Given the description of an element on the screen output the (x, y) to click on. 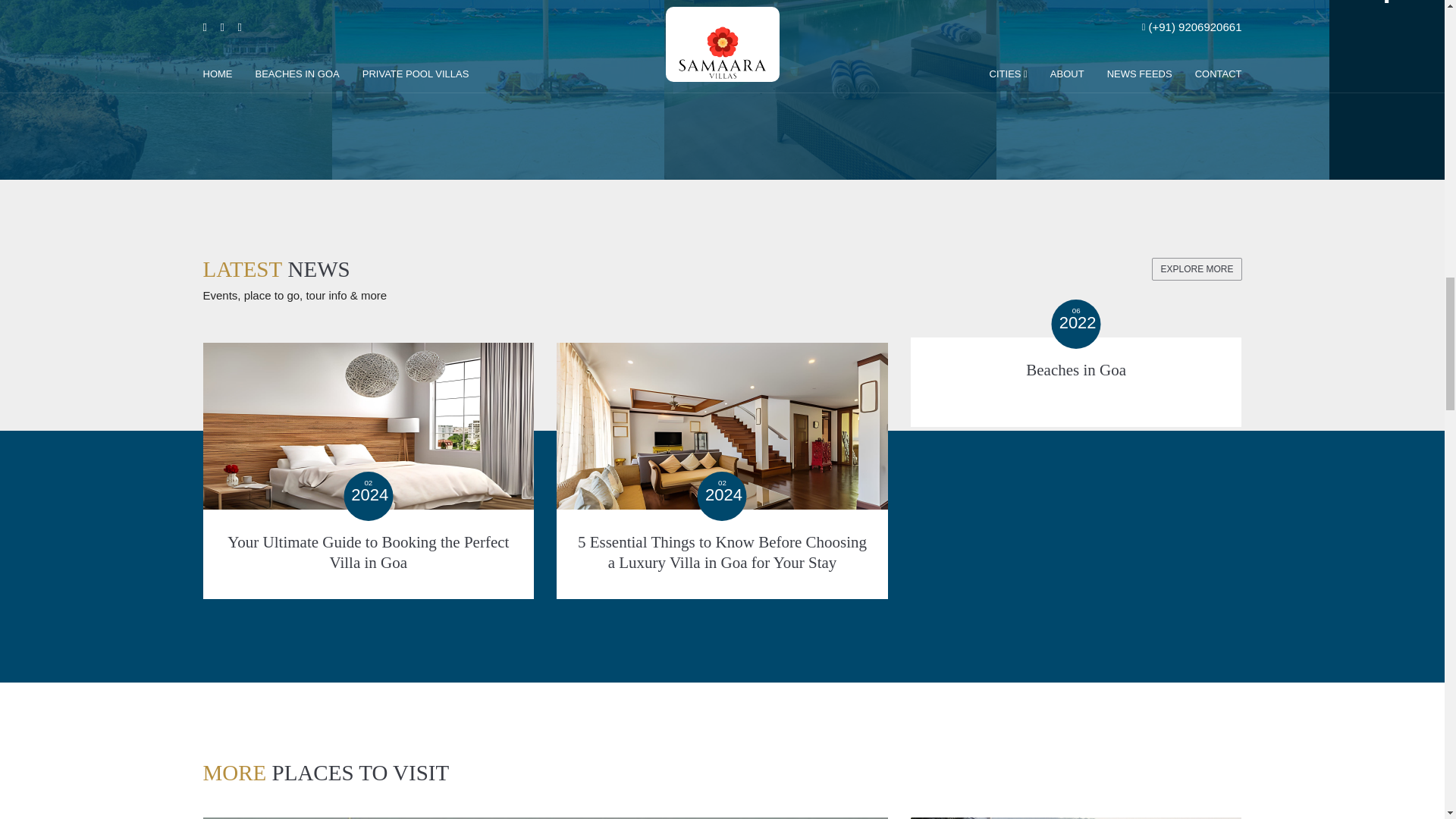
Your Ultimate Guide to Booking the Perfect Villa in Goa (368, 437)
Beaches in Goa (957, 352)
